Given the description of an element on the screen output the (x, y) to click on. 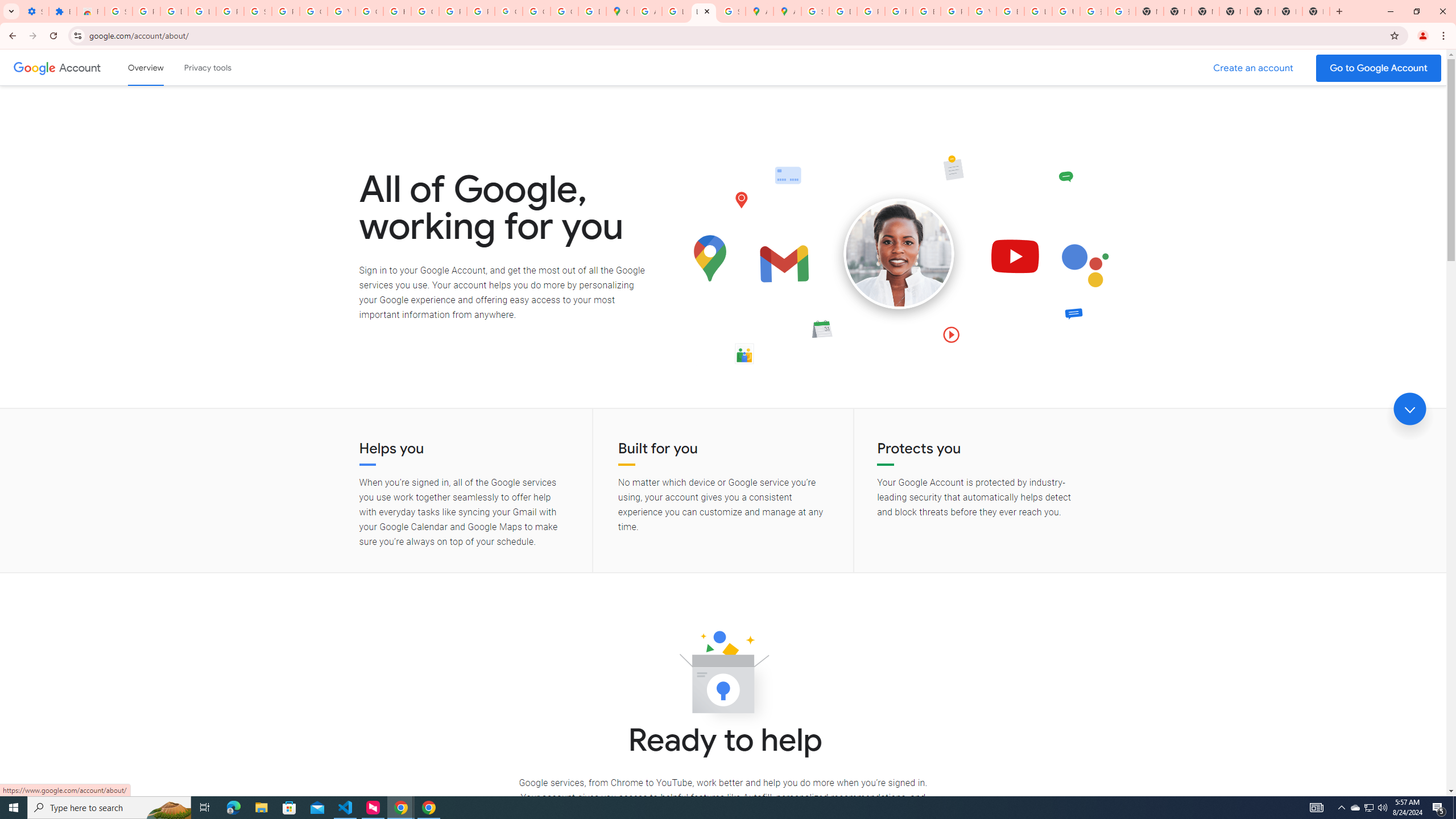
Ready to help (722, 675)
Google Account (313, 11)
New Tab (1288, 11)
